Given the description of an element on the screen output the (x, y) to click on. 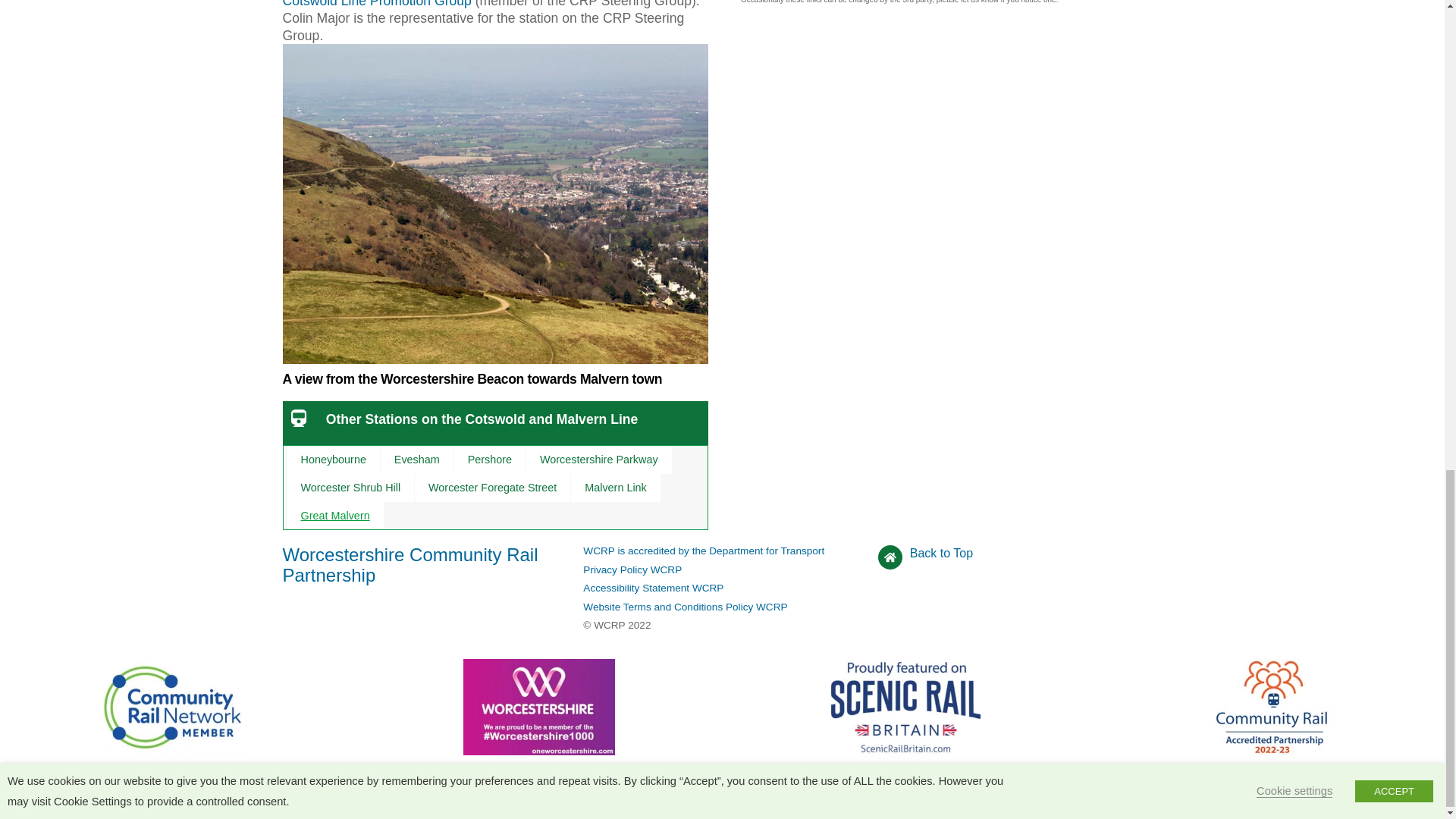
Worcestershire Community Rail Partnership (409, 564)
Candoo Web Design and Hosting (721, 805)
